Given the description of an element on the screen output the (x, y) to click on. 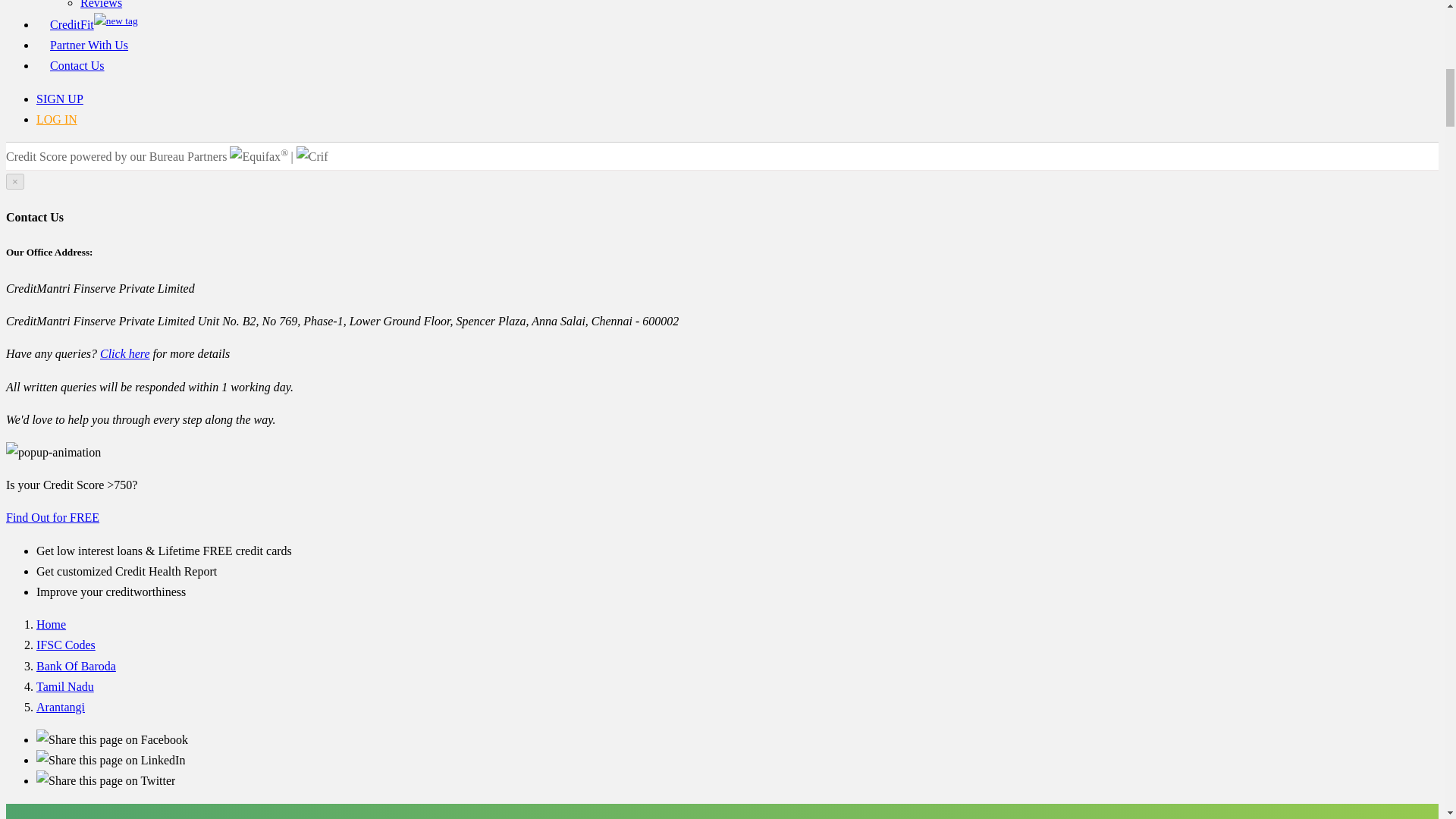
Share this page on Twitter (105, 780)
Arantangi (60, 707)
Home (50, 624)
Contact Us (76, 65)
LOG IN (56, 119)
Home (50, 624)
Bank Of Baroda (76, 666)
IFSC Codes (66, 644)
Tamil Nadu (65, 686)
SIGN UP (59, 98)
Reviews (101, 4)
Click here (124, 353)
Partner With Us (88, 44)
CreditFit (93, 24)
Share this page on Facebook (111, 739)
